Given the description of an element on the screen output the (x, y) to click on. 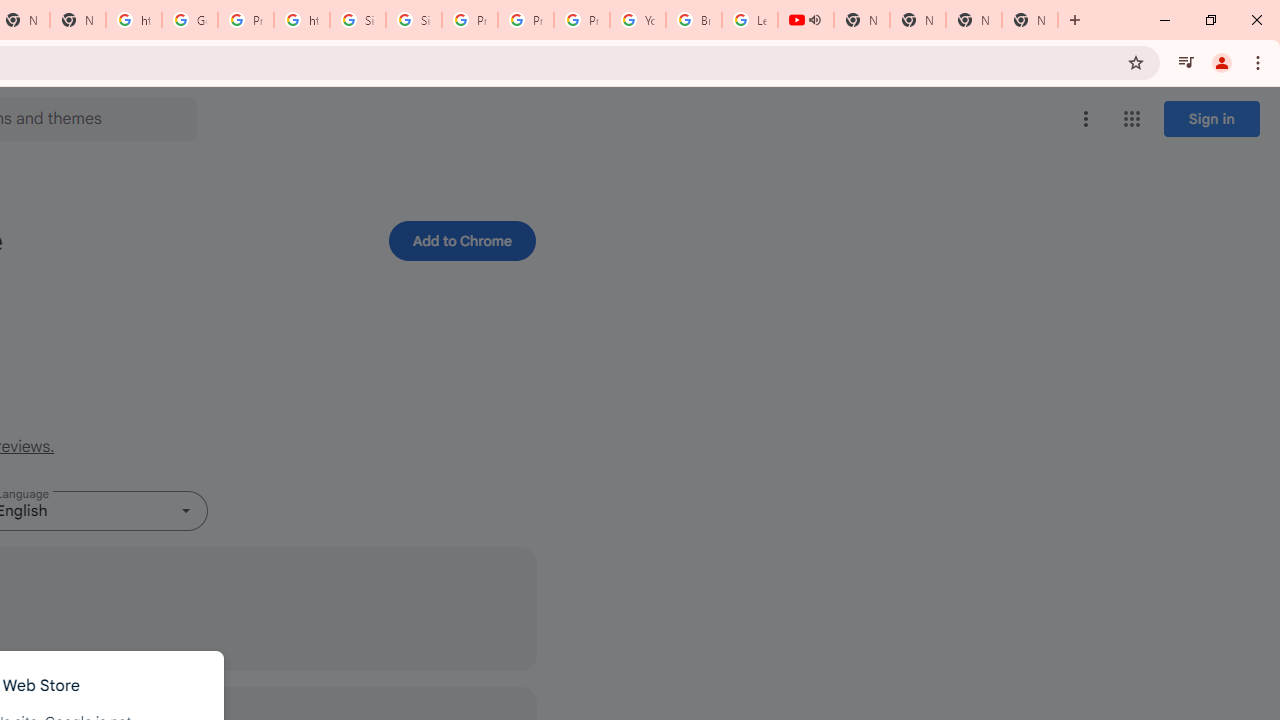
Sign in - Google Accounts (358, 20)
New Tab (973, 20)
https://scholar.google.com/ (301, 20)
Sign in - Google Accounts (413, 20)
